Given the description of an element on the screen output the (x, y) to click on. 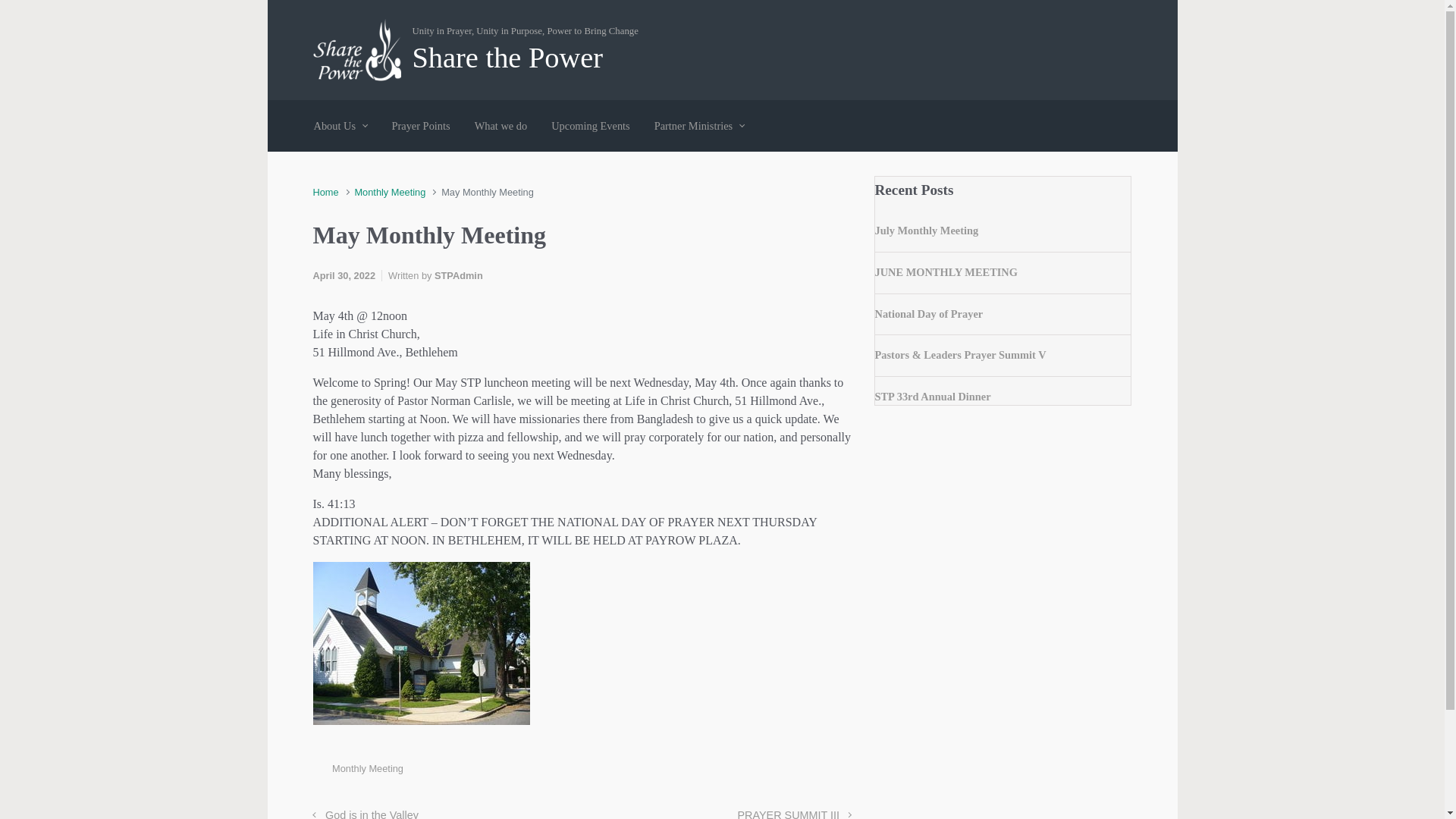
Share the Power (508, 57)
Monthly Meeting (367, 767)
Prayer Points (420, 125)
Upcoming Events (590, 125)
Partner Ministries (699, 125)
Home (325, 192)
Monthly Meeting (389, 192)
STPAdmin (458, 275)
View all posts by STPAdmin (458, 275)
Skip to main content (19, 10)
Monthly Meeting (389, 192)
What we do (501, 125)
About Us (340, 125)
God is in the Valley (365, 814)
